Given the description of an element on the screen output the (x, y) to click on. 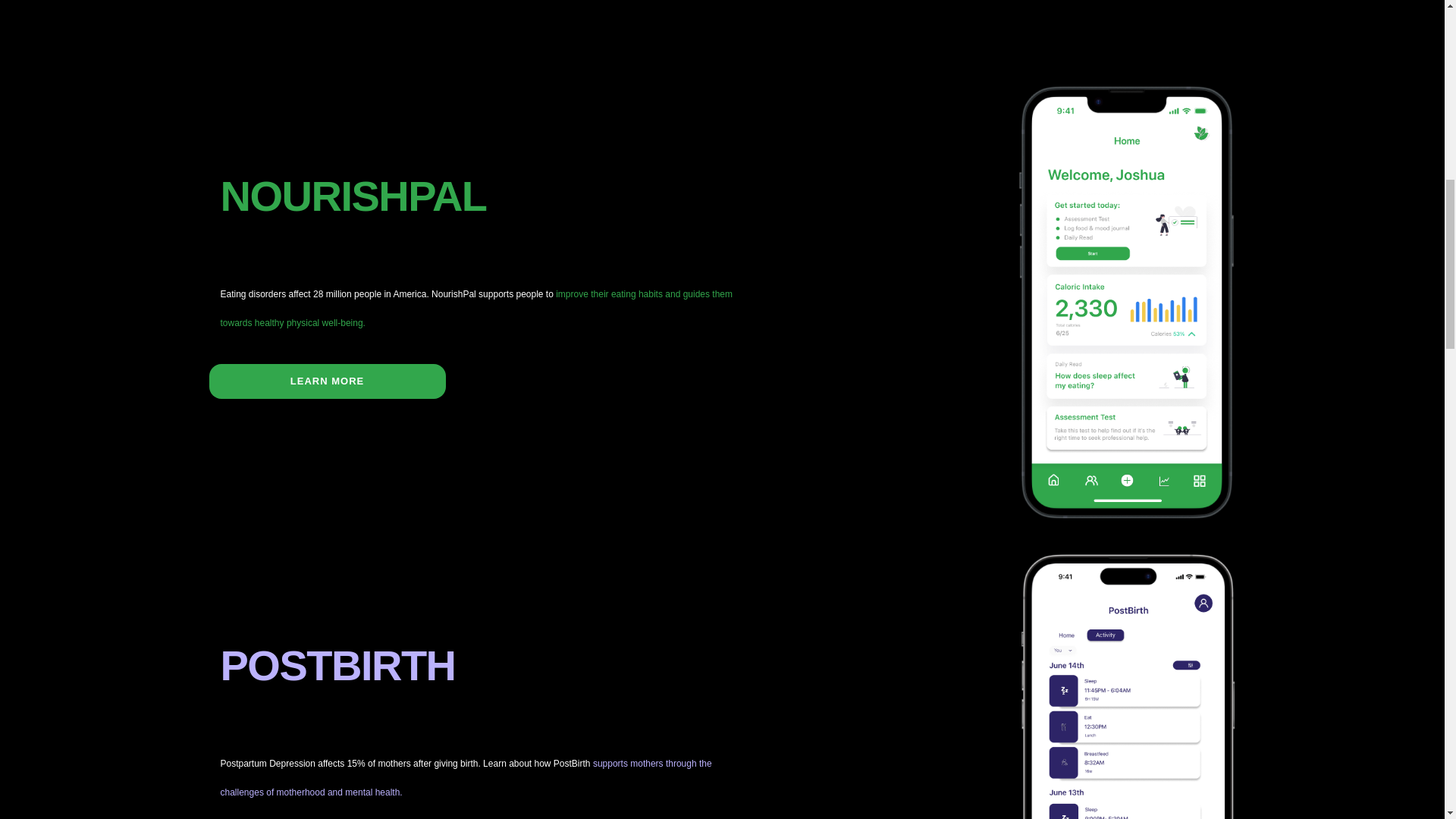
LEARN MORE (327, 380)
